Given the description of an element on the screen output the (x, y) to click on. 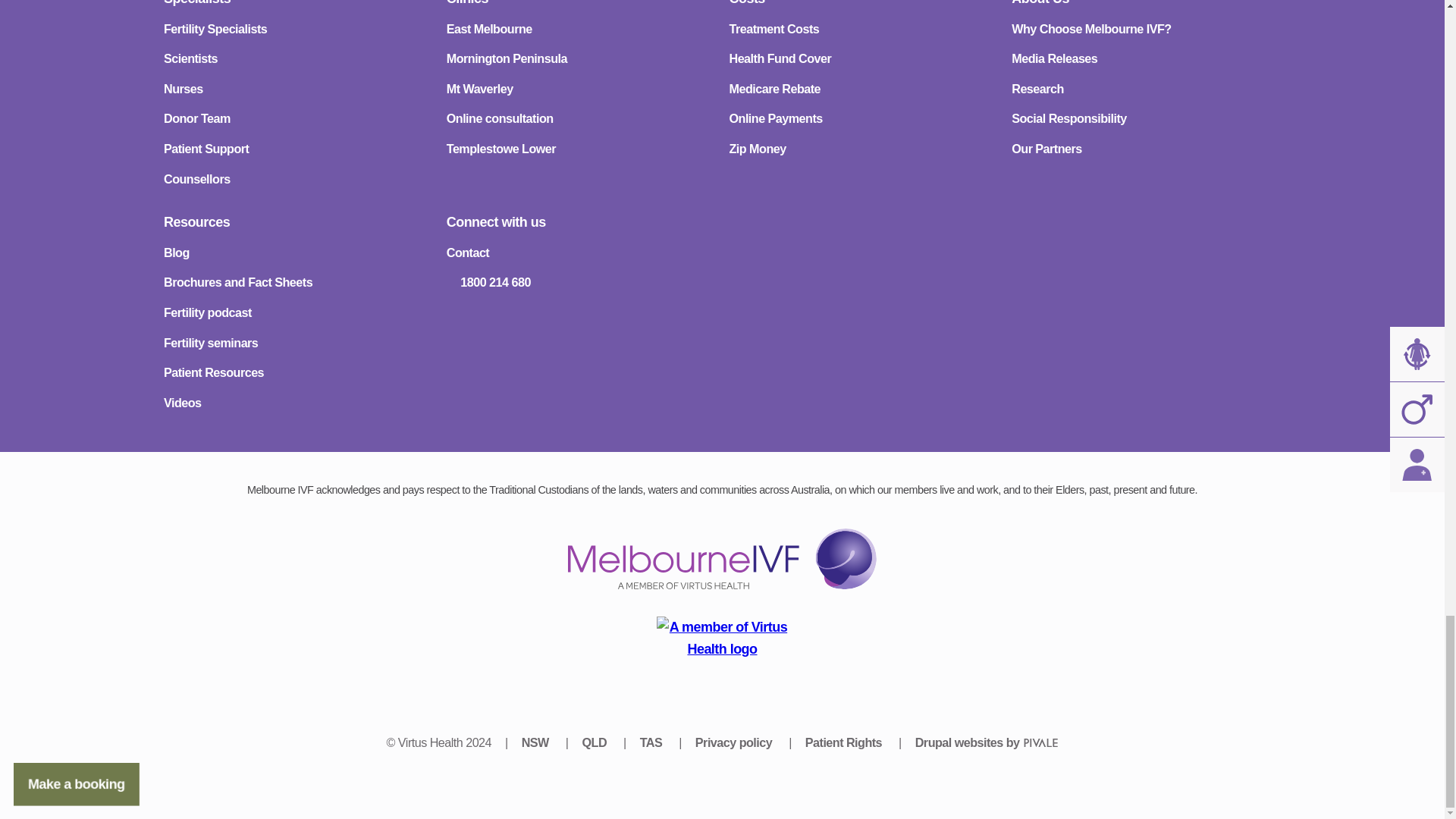
Opens in a new tab (595, 742)
Opens in a new tab (722, 646)
Opens in a new tab (986, 742)
Opens in a new tab (536, 742)
Opens in a new tab (652, 742)
